Given the description of an element on the screen output the (x, y) to click on. 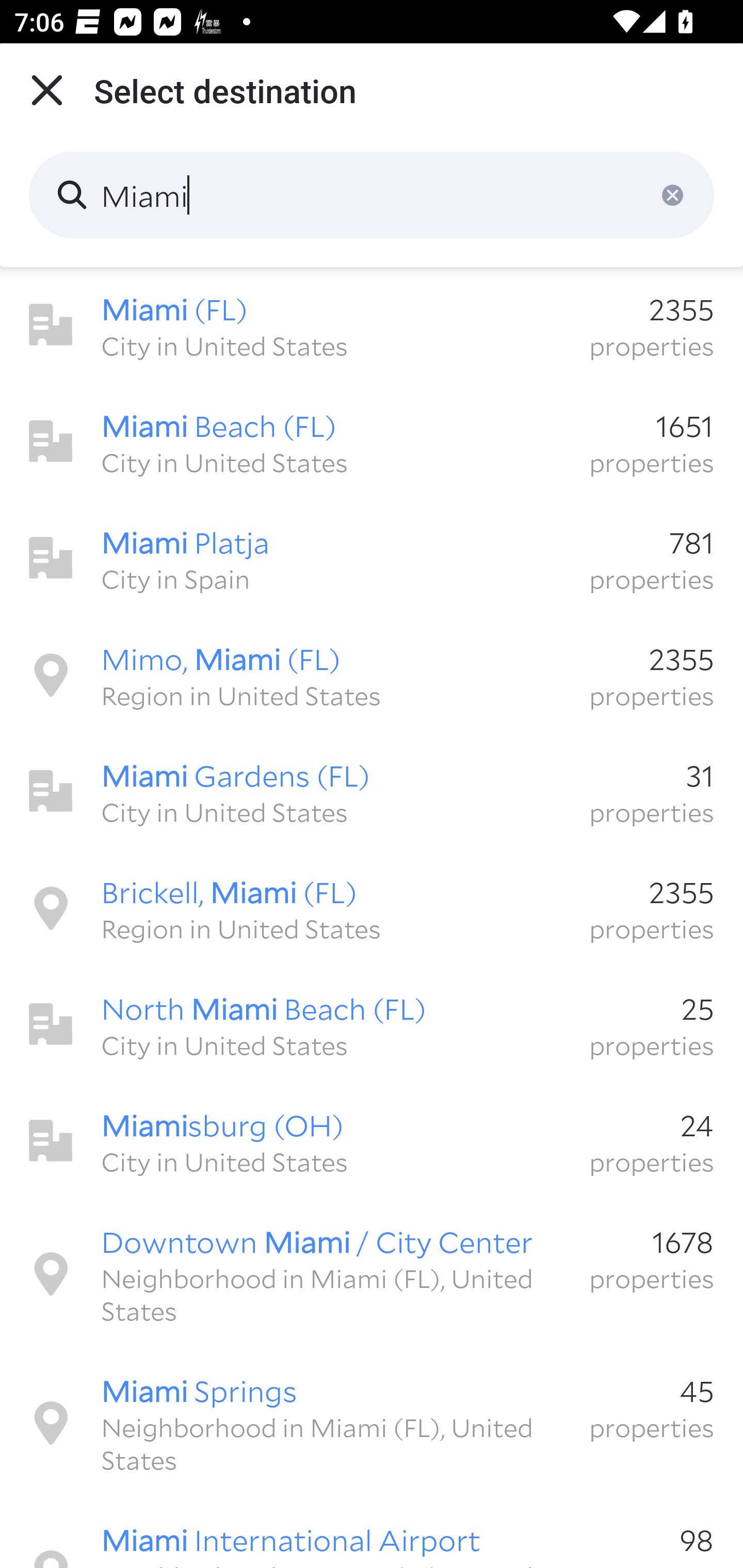
Miami (371, 195)
Miami (FL) 2355 City in United States properties (371, 325)
Miami Platja 781 City in Spain properties (371, 558)
